Given the description of an element on the screen output the (x, y) to click on. 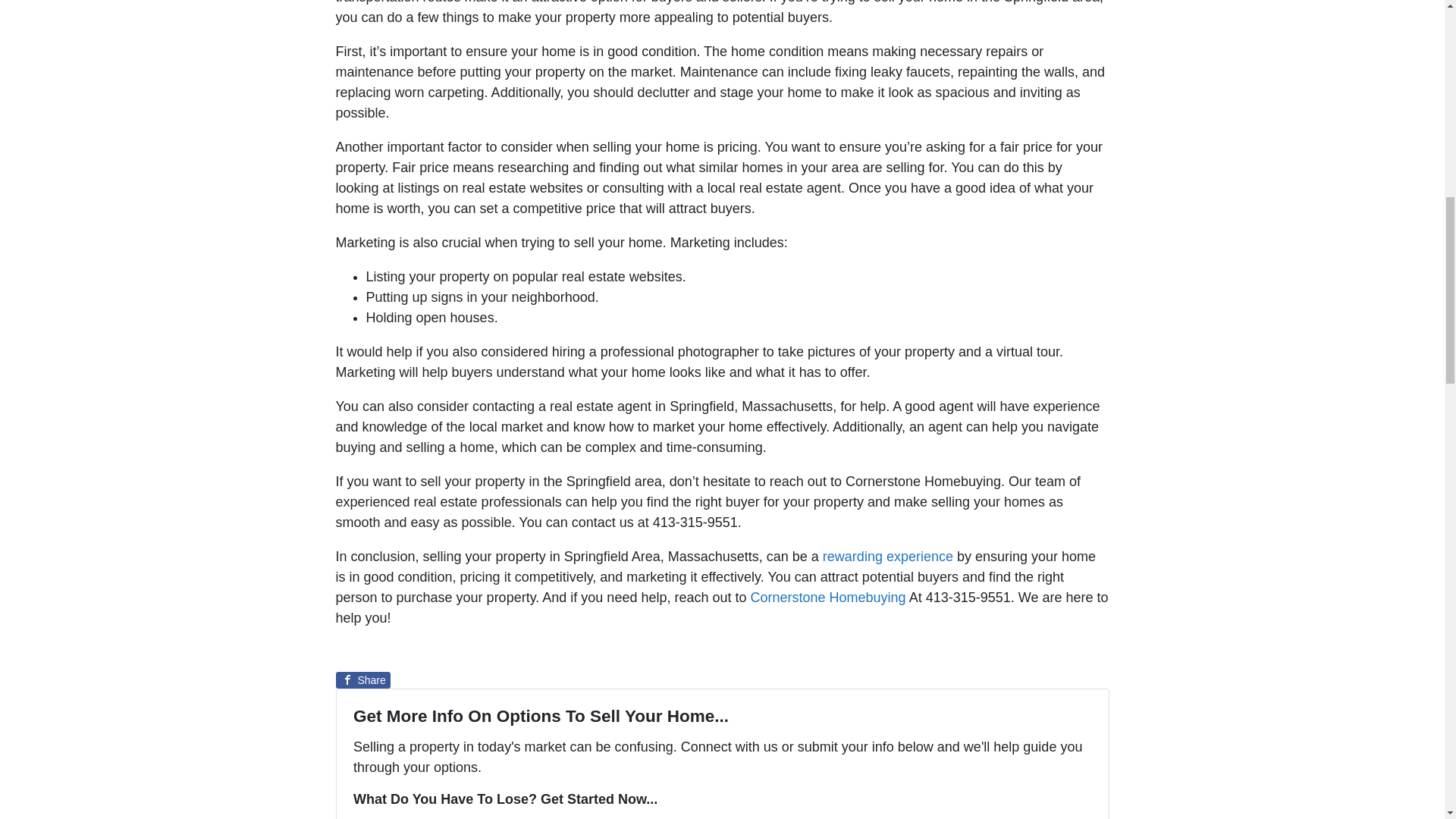
Cornerstone Homebuying (828, 597)
rewarding experience (887, 556)
Share (362, 679)
Share on Facebook (362, 679)
